Given the description of an element on the screen output the (x, y) to click on. 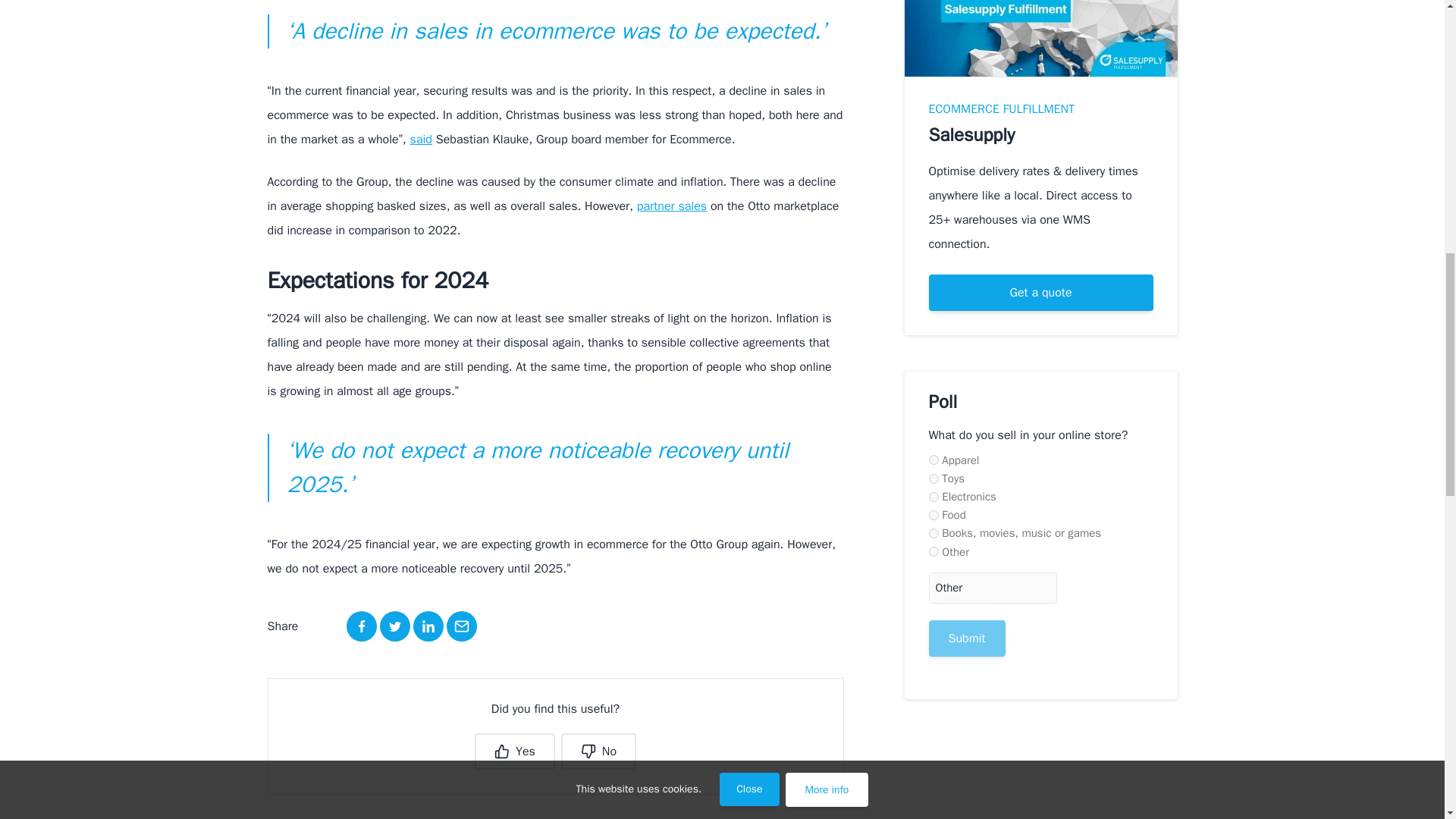
Other (992, 587)
gpoll1c75c0ee0 (932, 460)
Share this on LinkedIn (427, 625)
gpoll1583c95a6 (932, 533)
gpoll1bbf83e87 (932, 515)
said (421, 139)
partner sales (671, 206)
Submit (966, 637)
Email this article (460, 625)
Share this on Twitter (393, 625)
